Given the description of an element on the screen output the (x, y) to click on. 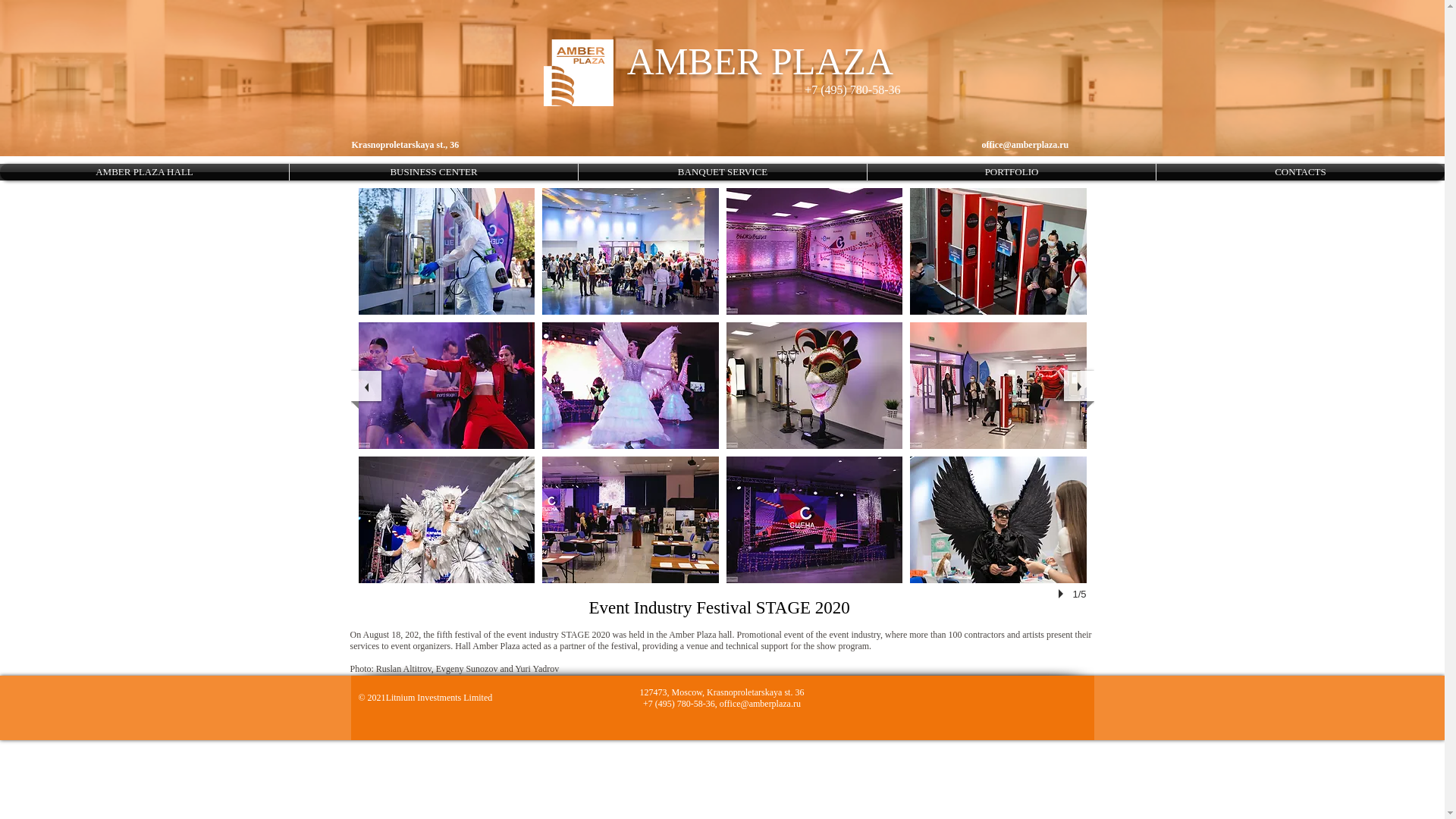
BUSINESS CENTER (433, 171)
BANQUET SERVICE (722, 171)
Litnium Investments Limited (439, 697)
AMBER PLAZA HALL (144, 171)
PORTFOLIO (1011, 171)
